Given the description of an element on the screen output the (x, y) to click on. 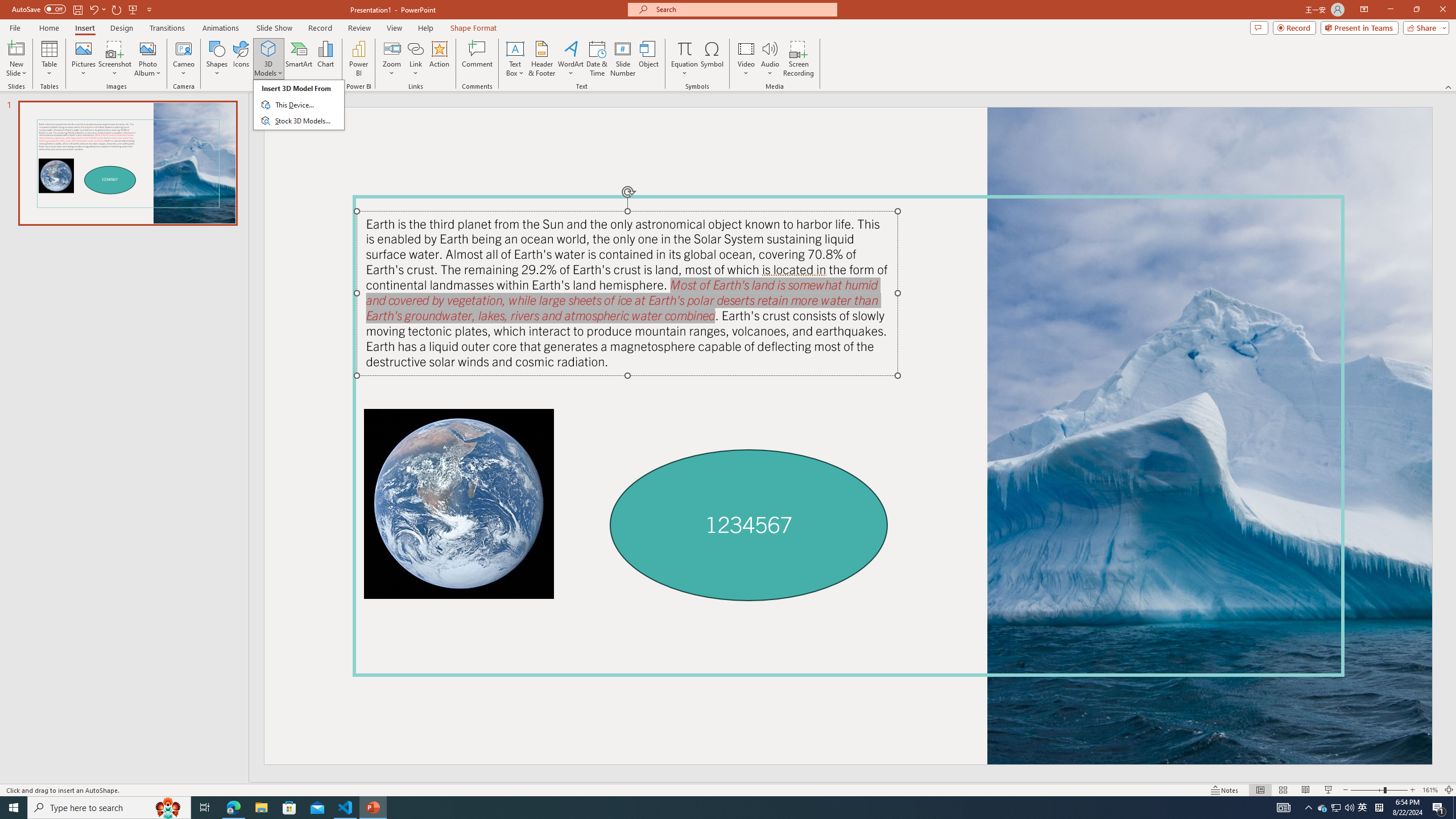
Object... (649, 58)
